Given the description of an element on the screen output the (x, y) to click on. 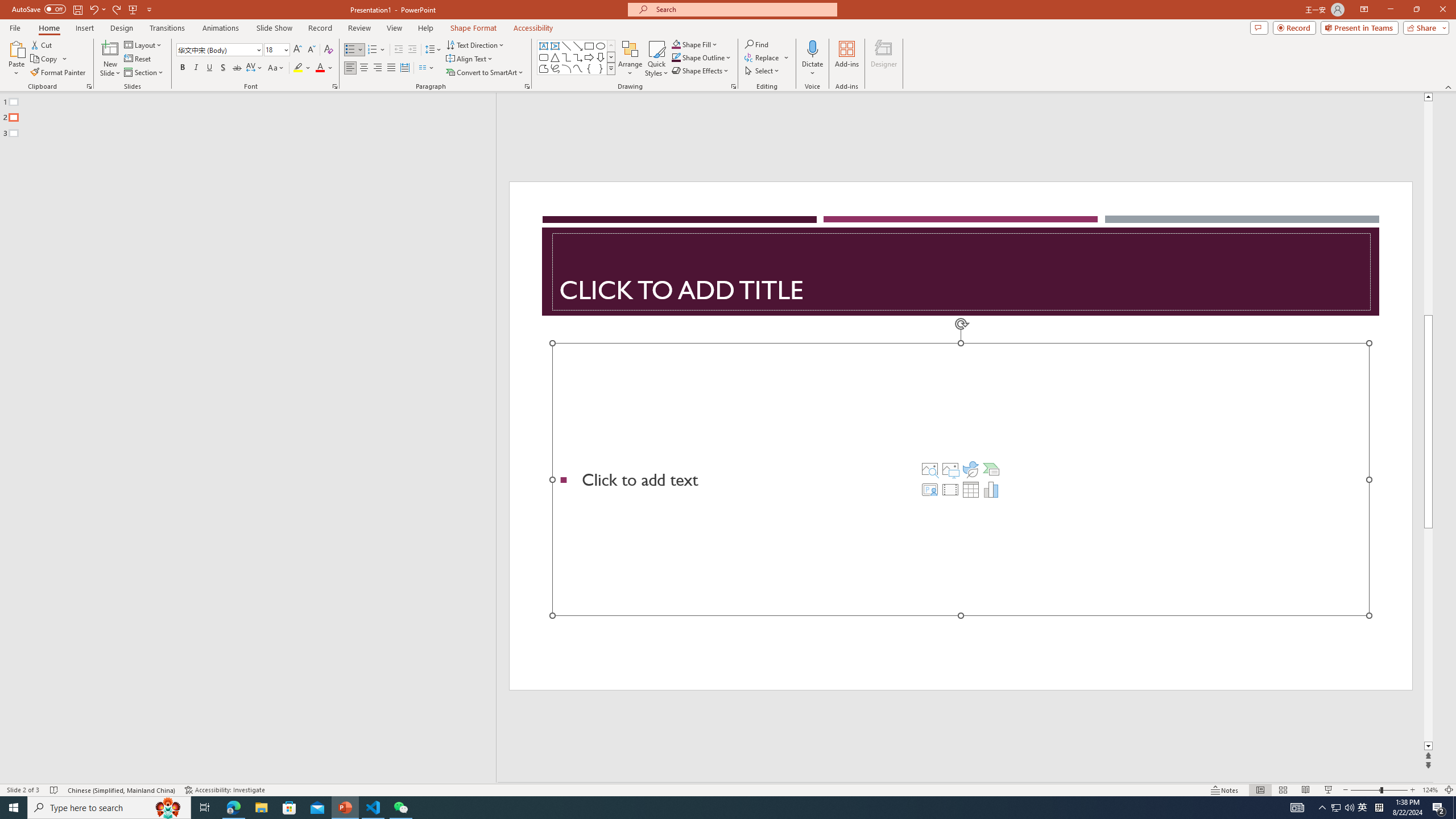
Outline (252, 114)
